Given the description of an element on the screen output the (x, y) to click on. 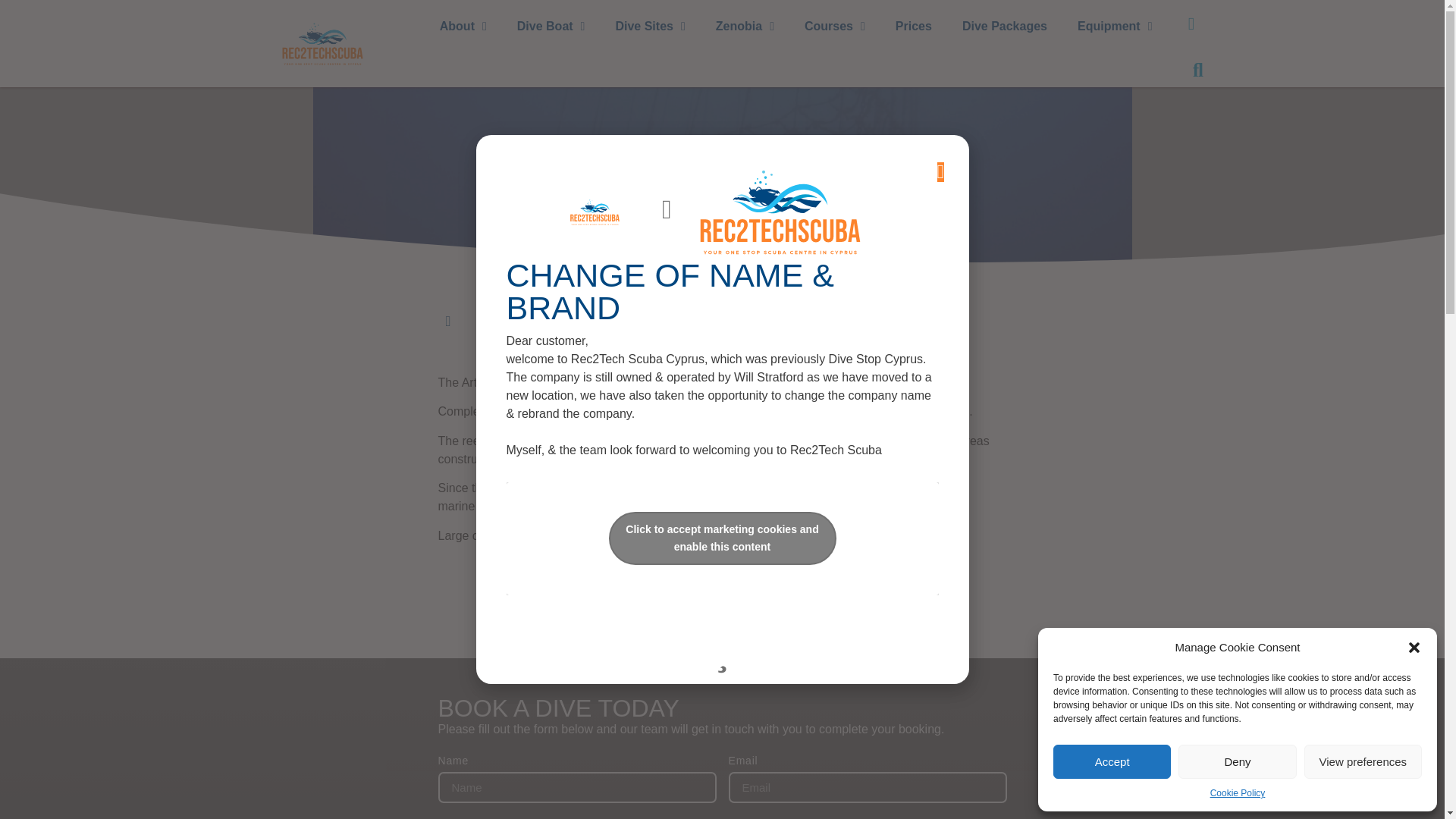
Deny (1236, 761)
Prices (913, 26)
Equipment (1114, 26)
Dive Boat (550, 26)
Accept (1111, 761)
Courses (834, 26)
Dive Packages (1004, 26)
View preferences (1363, 761)
Cookie Policy (1237, 793)
Dive Sites (649, 26)
Zenobia (744, 26)
About (463, 26)
